Given the description of an element on the screen output the (x, y) to click on. 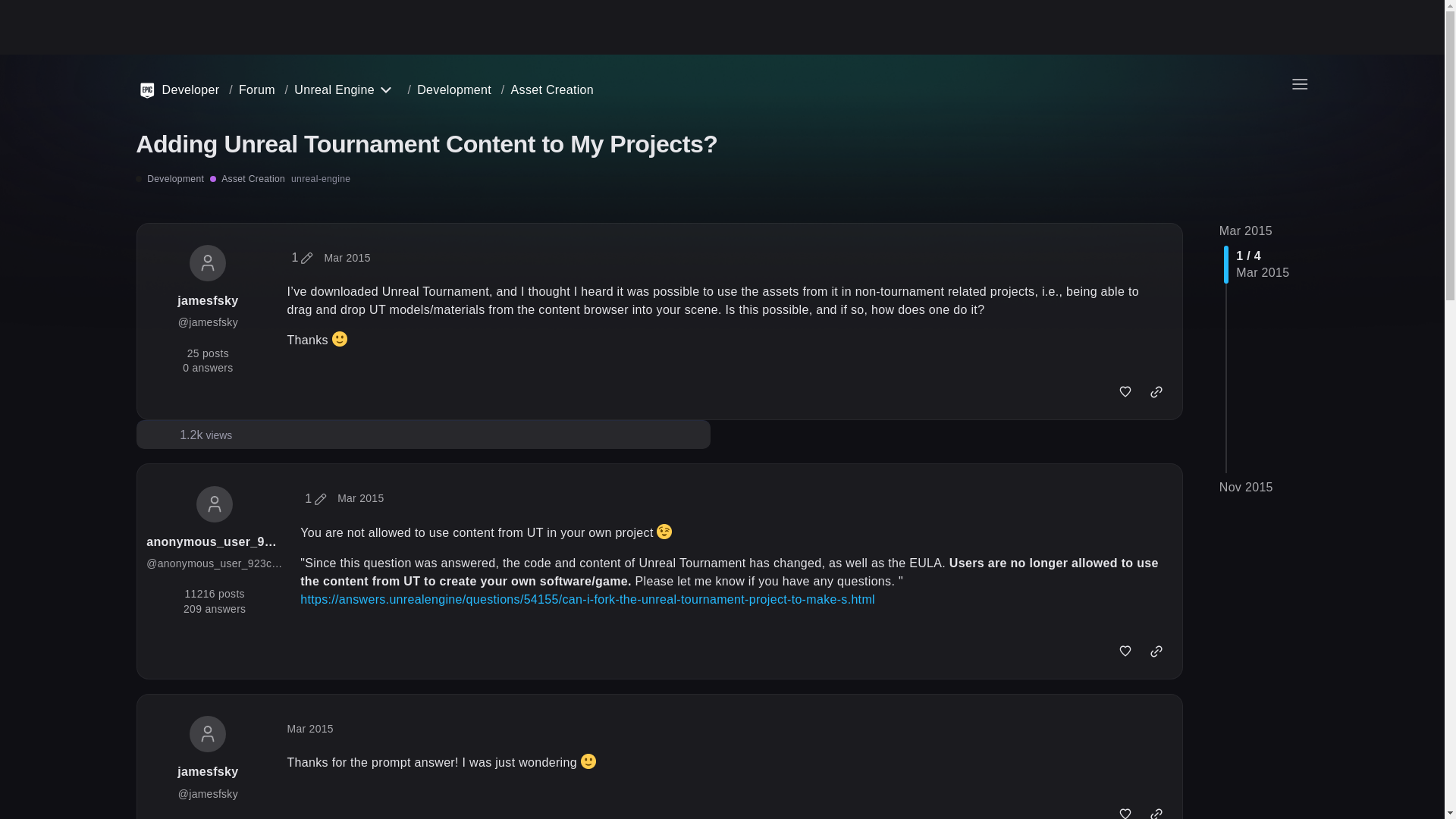
Development (169, 178)
Mar 2015 (346, 257)
1 (315, 499)
menu (1299, 83)
Mar 2015 (360, 498)
Asset Creation (247, 178)
Jump to the first post (1246, 230)
copy a link to this post to clipboard (1156, 392)
like this post (1125, 392)
post last edited on Mar 12, 2022 9:10 am (301, 257)
